Given the description of an element on the screen output the (x, y) to click on. 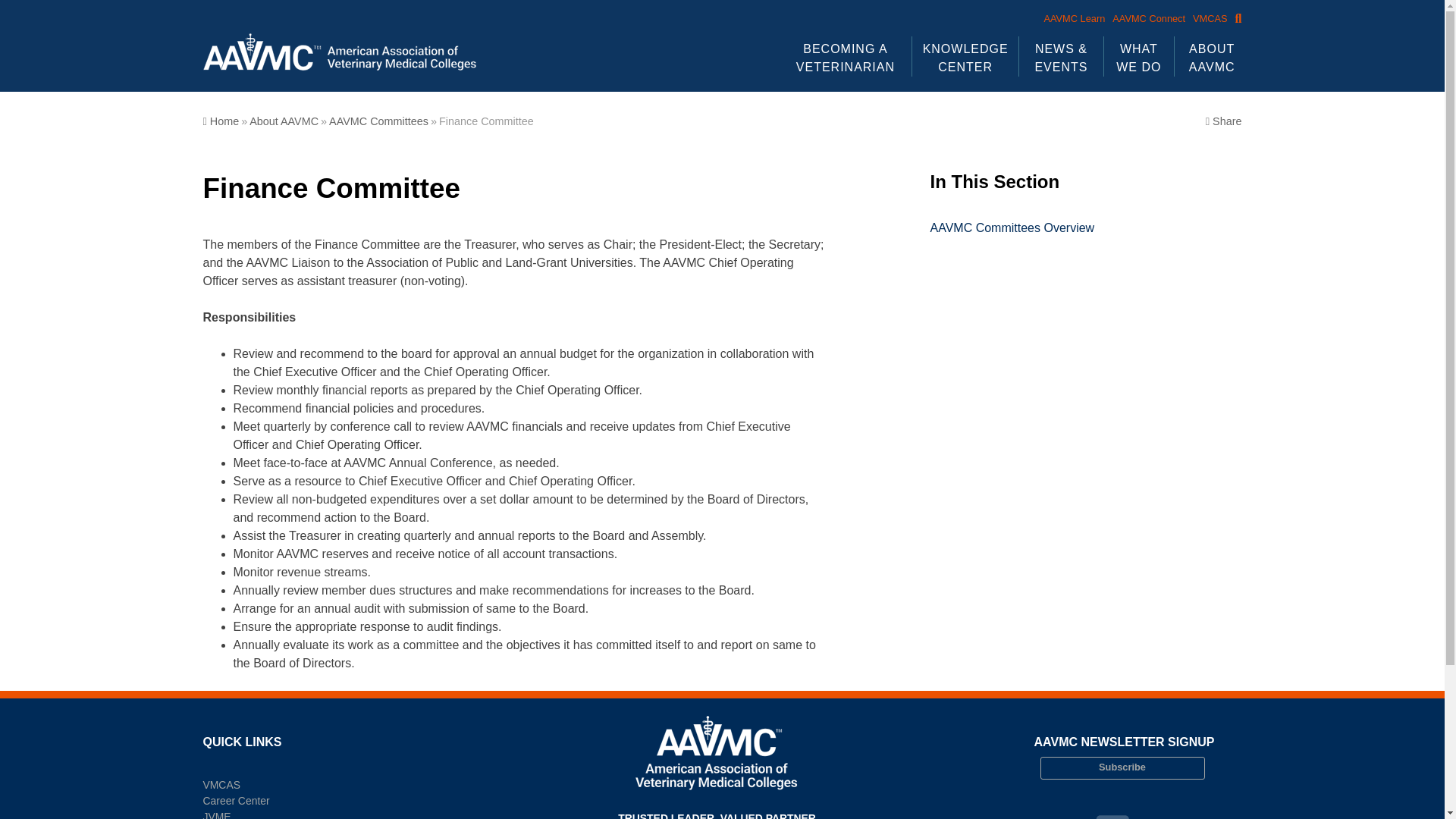
AAVMC (224, 96)
Home (221, 121)
About AAVMC (283, 121)
AAVMC Committees (1085, 227)
VMCAS (1206, 18)
AAVMC Connect (1145, 18)
AAVMC Committees (378, 121)
BECOMING A VETERINARIAN (845, 56)
AAVMC Learn (1070, 18)
Finance Committee (486, 121)
